Given the description of an element on the screen output the (x, y) to click on. 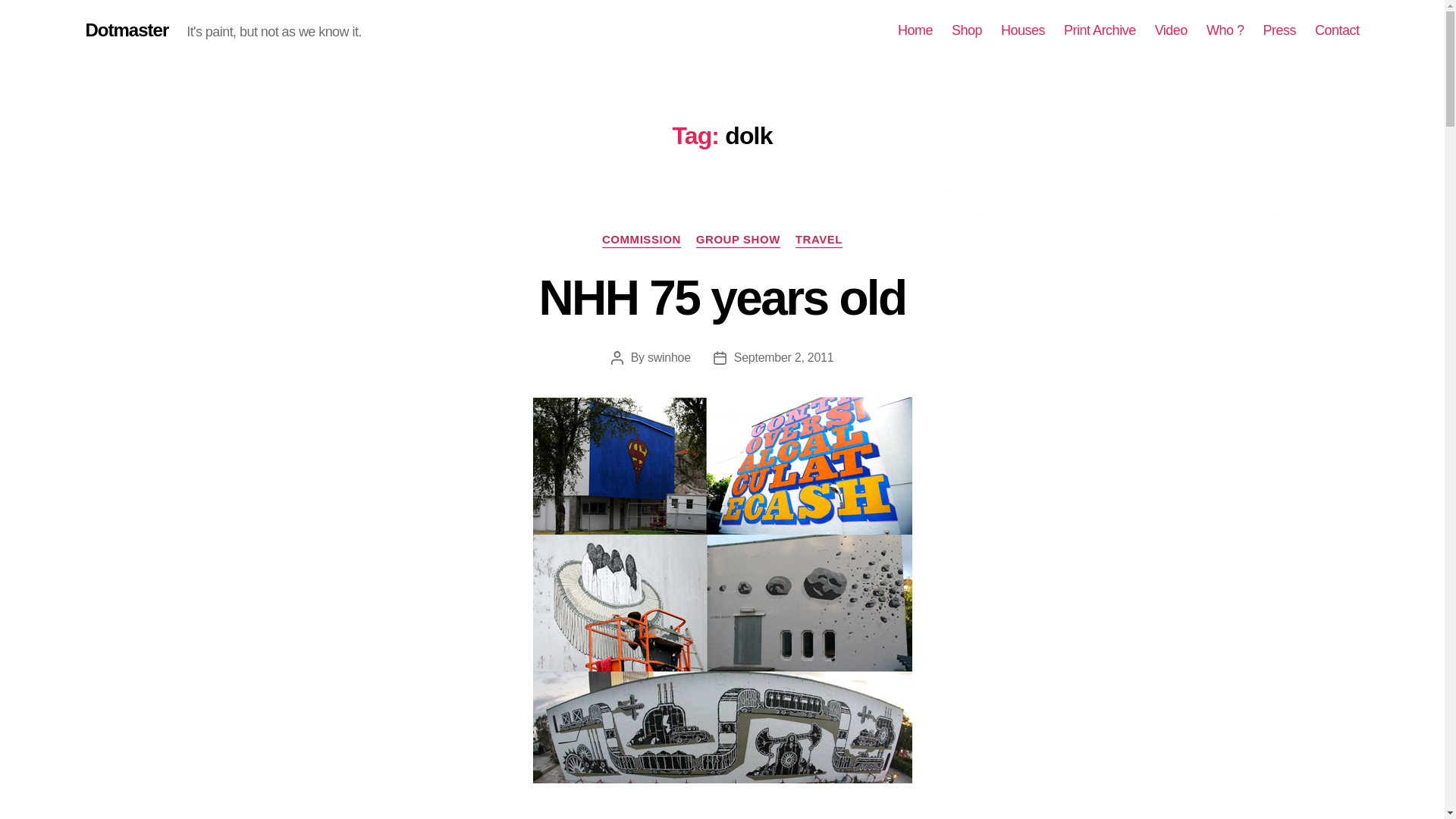
Houses (1023, 30)
September 2, 2011 (783, 357)
swinhoe (668, 357)
Contact (1336, 30)
Print Archive (1099, 30)
Shop (966, 30)
NHH 75 years old (721, 298)
Who ? (1225, 30)
Dotmaster (126, 30)
Video (1171, 30)
